Given the description of an element on the screen output the (x, y) to click on. 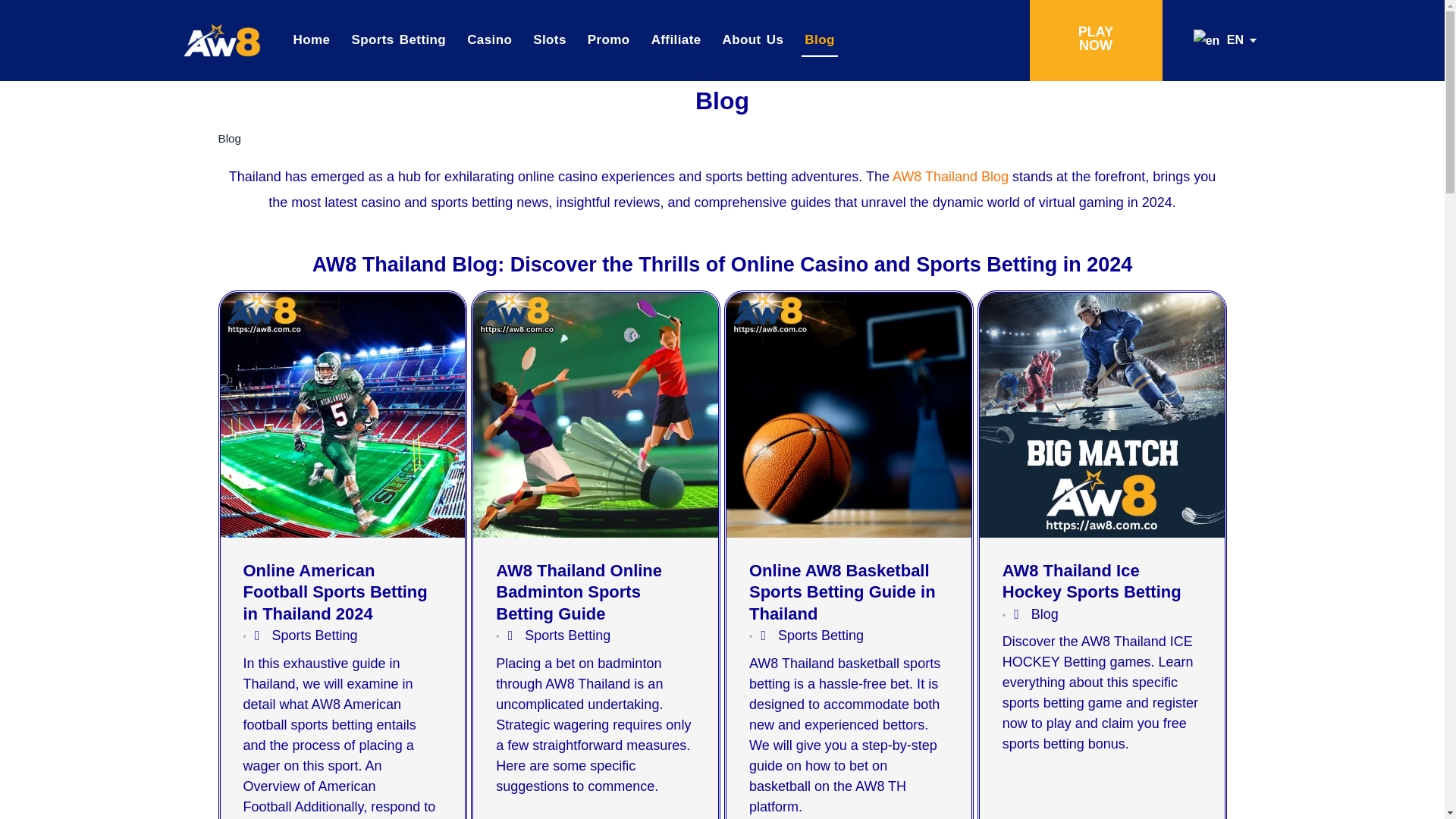
Promo (609, 40)
Sports Betting (397, 40)
Home (311, 40)
Casino (489, 40)
About Us (753, 40)
Affiliate (675, 40)
Slots (549, 40)
Blog (819, 40)
